Given the description of an element on the screen output the (x, y) to click on. 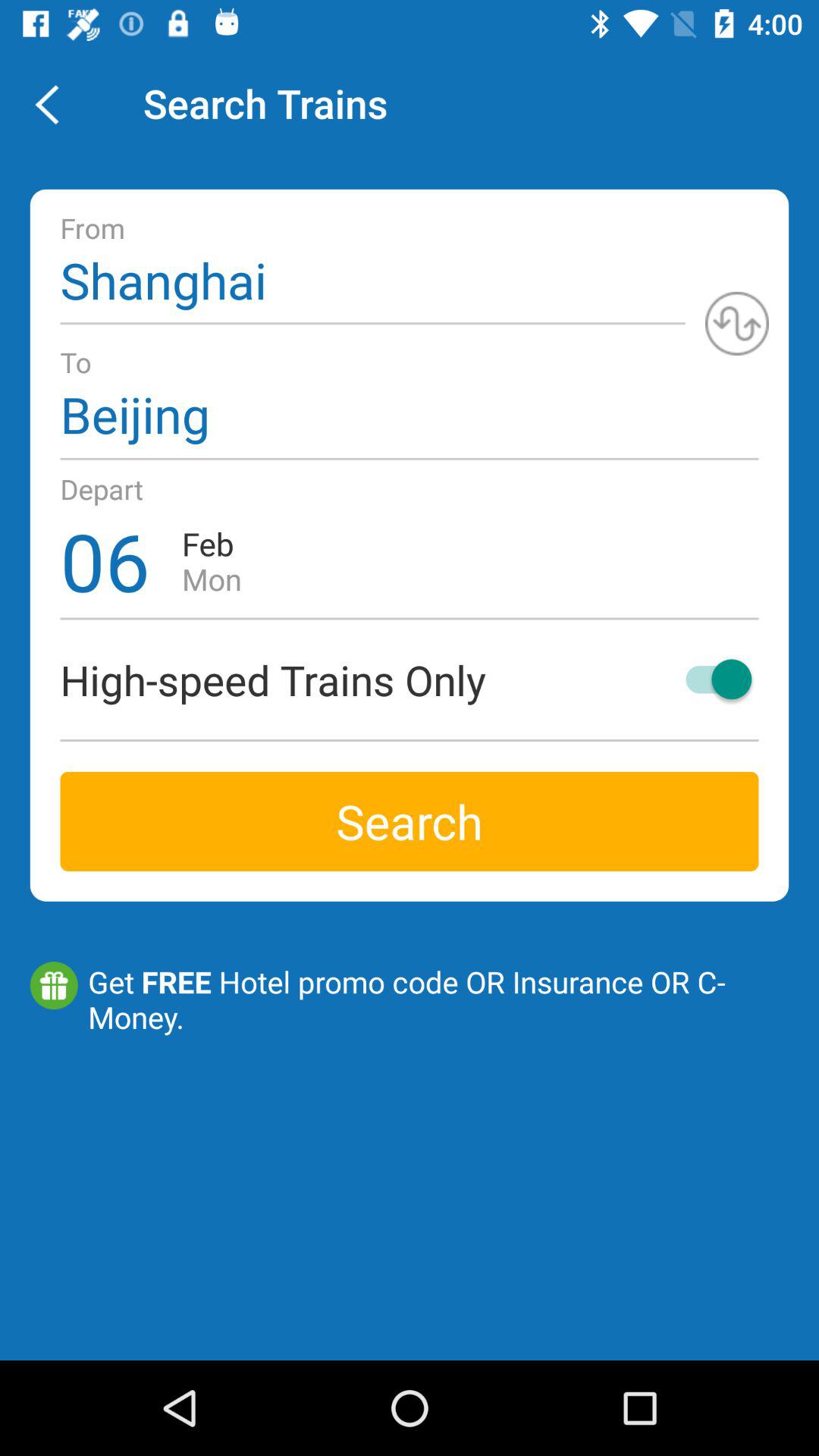
switch from/to (736, 323)
